Given the description of an element on the screen output the (x, y) to click on. 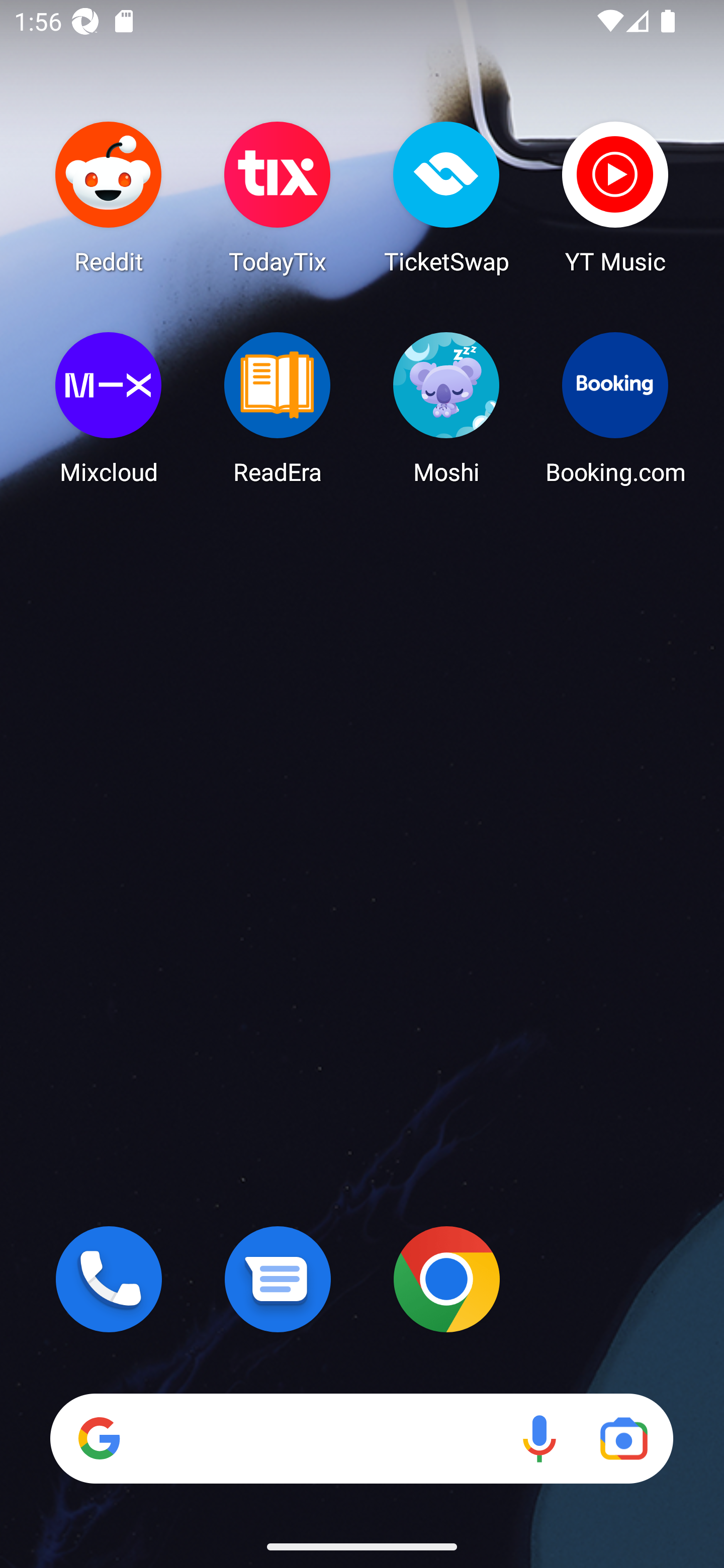
Reddit (108, 196)
TodayTix (277, 196)
TicketSwap (445, 196)
YT Music (615, 196)
Mixcloud (108, 407)
ReadEra (277, 407)
Moshi (445, 407)
Booking.com (615, 407)
Phone (108, 1279)
Messages (277, 1279)
Chrome (446, 1279)
Search Voice search Google Lens (361, 1438)
Voice search (539, 1438)
Google Lens (623, 1438)
